Given the description of an element on the screen output the (x, y) to click on. 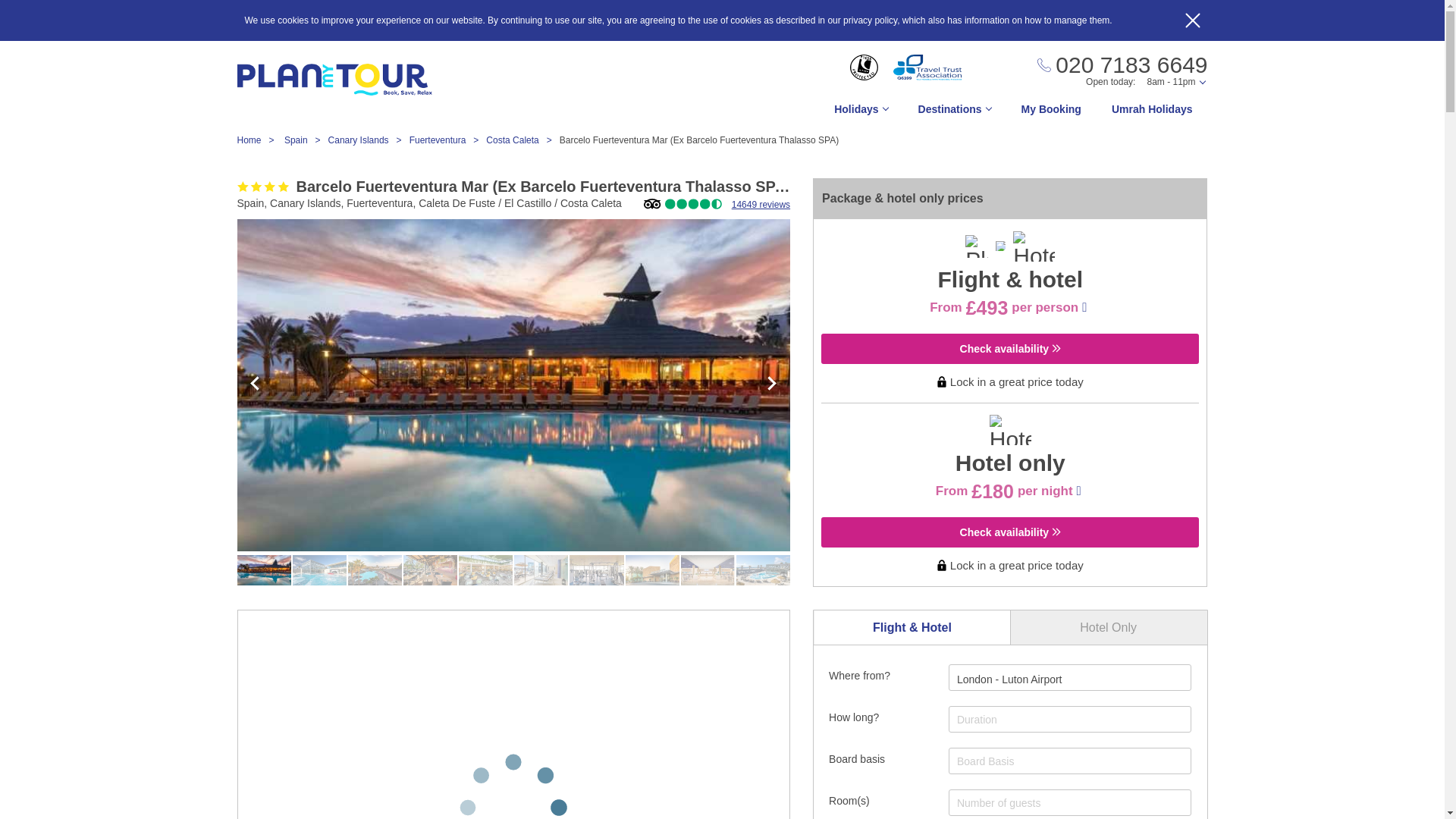
Holidays (860, 112)
020 7183 6649 (1121, 65)
Destinations (954, 112)
London - Luton Airport (1009, 679)
